Given the description of an element on the screen output the (x, y) to click on. 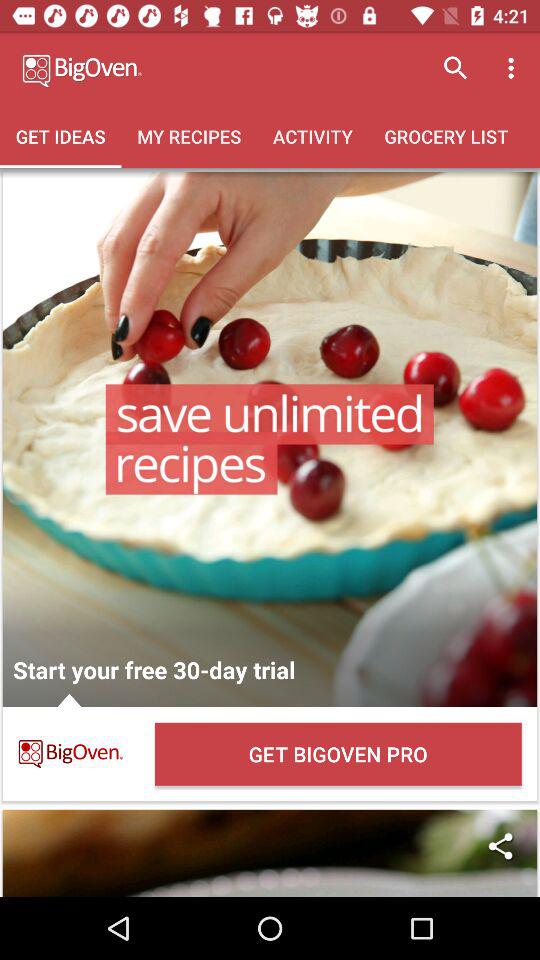
open the selection (269, 439)
